Given the description of an element on the screen output the (x, y) to click on. 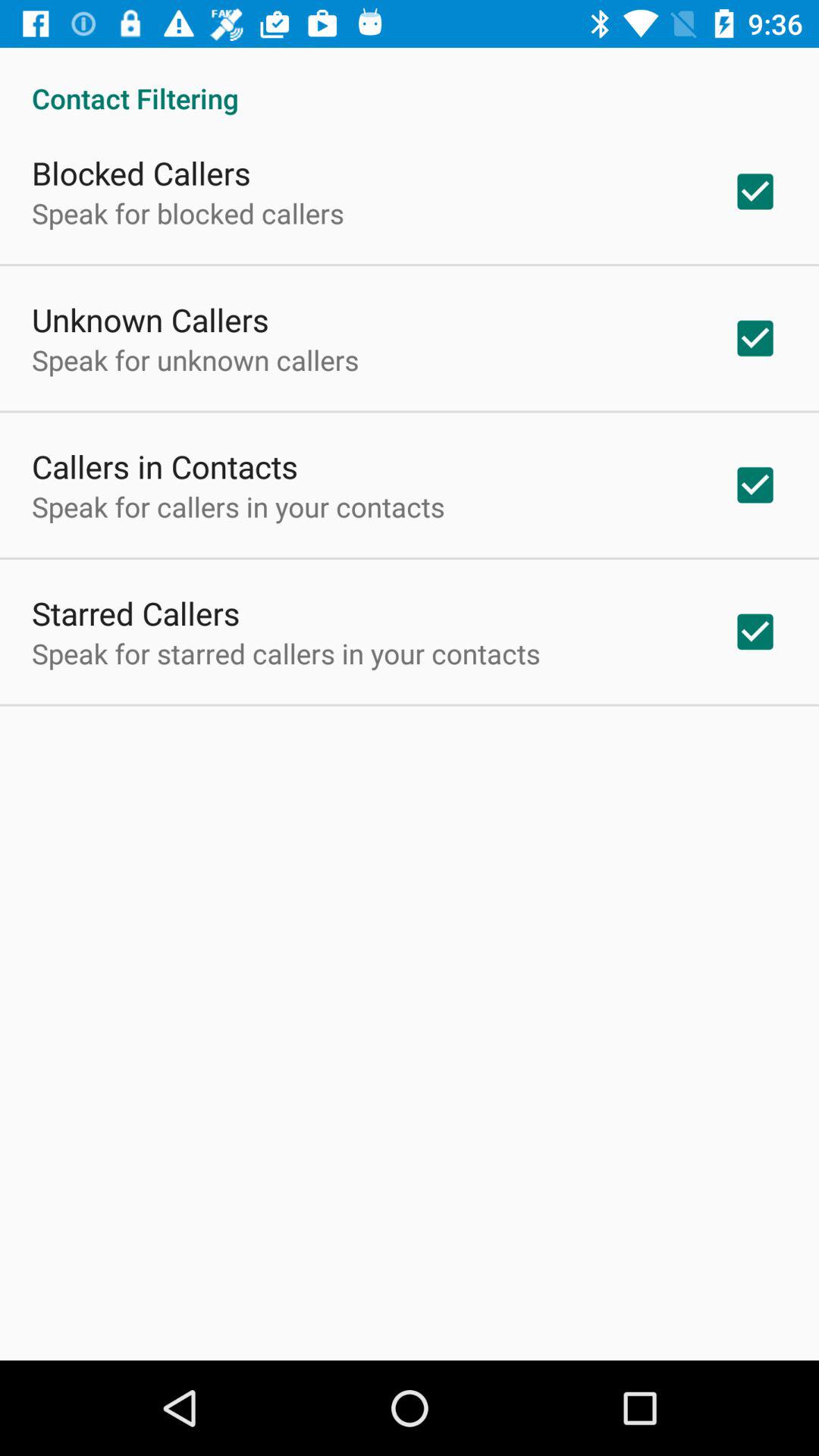
scroll until the contact filtering item (409, 82)
